Given the description of an element on the screen output the (x, y) to click on. 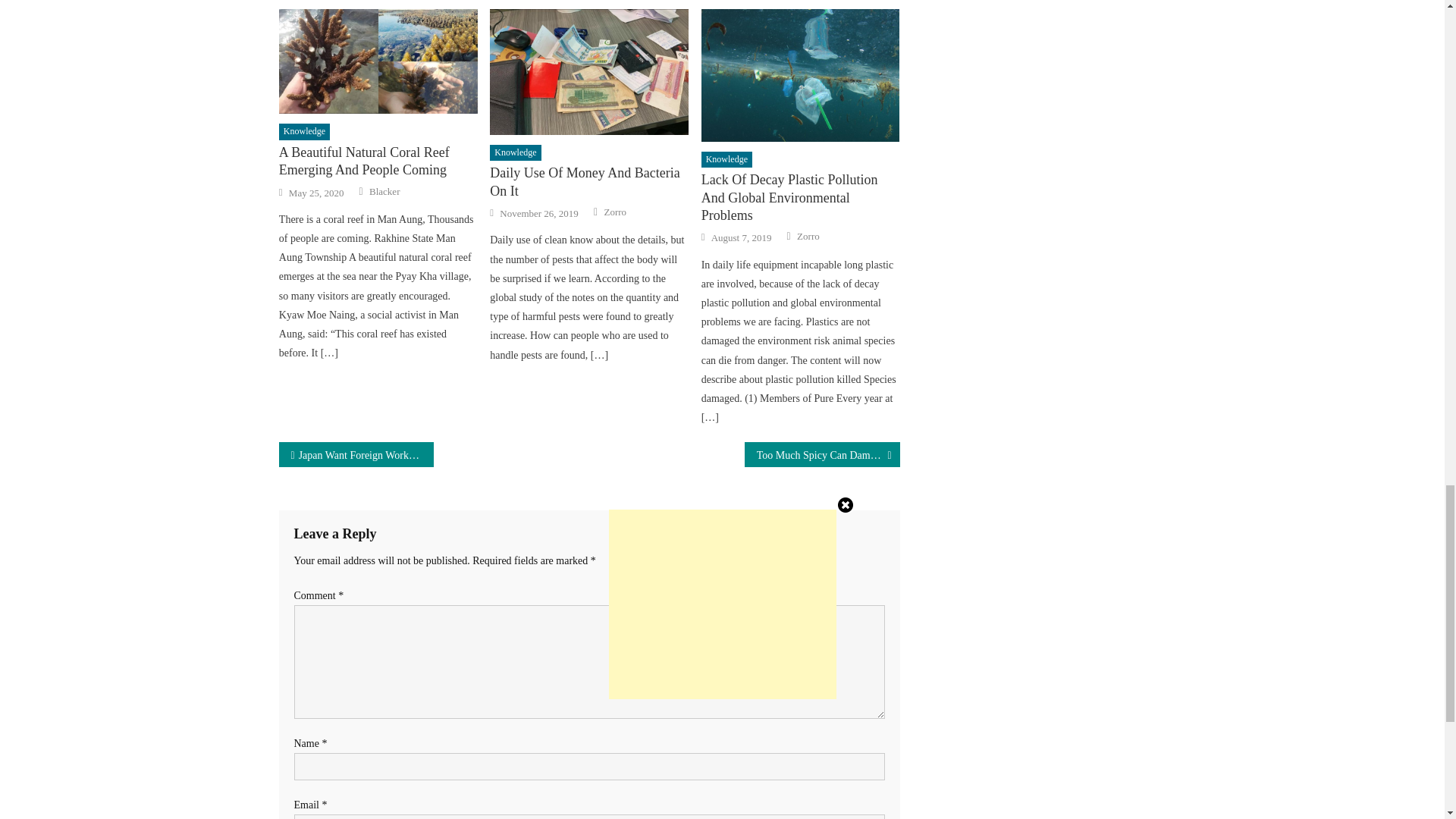
Knowledge (726, 159)
Daily Use Of Money And Bacteria On It (588, 181)
August 7, 2019 (741, 237)
November 26, 2019 (538, 213)
A Beautiful Natural Coral Reef Emerging And People Coming (378, 61)
A Beautiful Natural Coral Reef Emerging And People Coming (378, 161)
Daily Use Of Money And Bacteria On It (588, 72)
Too Much Spicy Can Damage To Brain (821, 454)
Japan Want Foreign Workers To Service Old Age People (356, 454)
Knowledge (514, 152)
May 25, 2020 (315, 192)
Blacker (383, 192)
Zorro (807, 236)
